Given the description of an element on the screen output the (x, y) to click on. 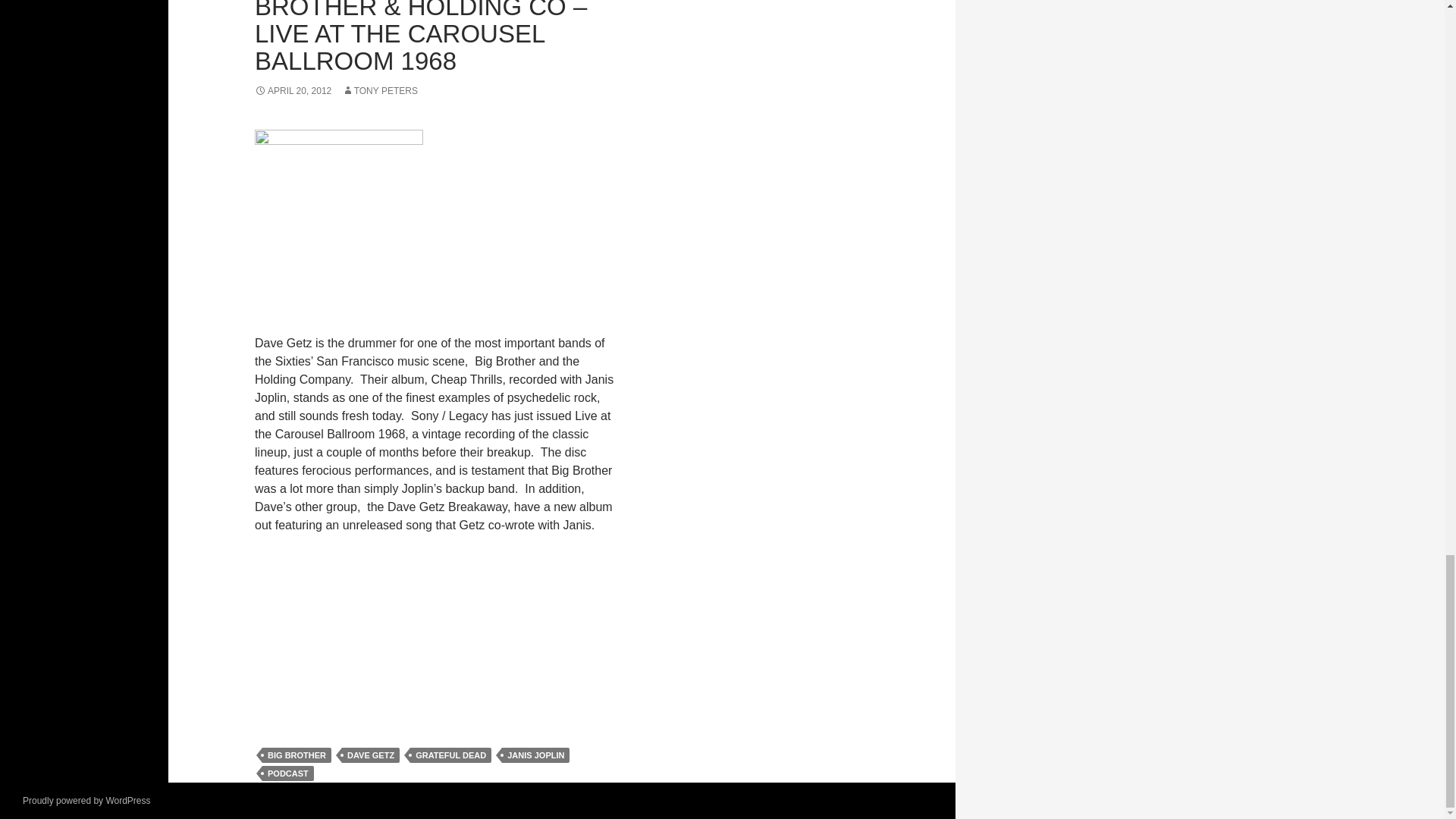
APRIL 20, 2012 (292, 90)
TONY PETERS (379, 90)
GRATEFUL DEAD (451, 754)
BIG BROTHER (296, 754)
PODCAST (288, 773)
DAVE GETZ (370, 754)
JANIS JOPLIN (535, 754)
